Given the description of an element on the screen output the (x, y) to click on. 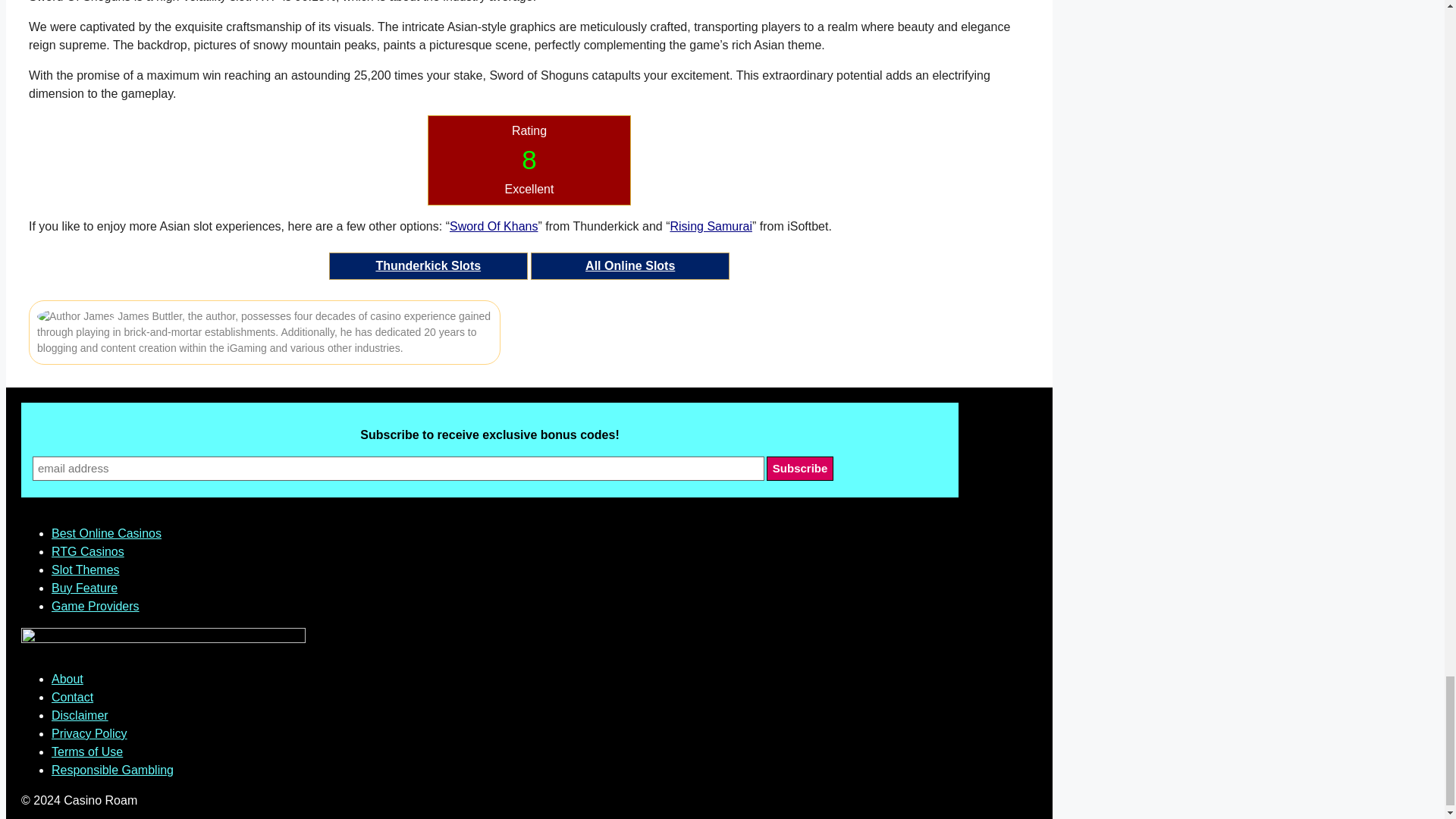
Subscribe (800, 468)
